Given the description of an element on the screen output the (x, y) to click on. 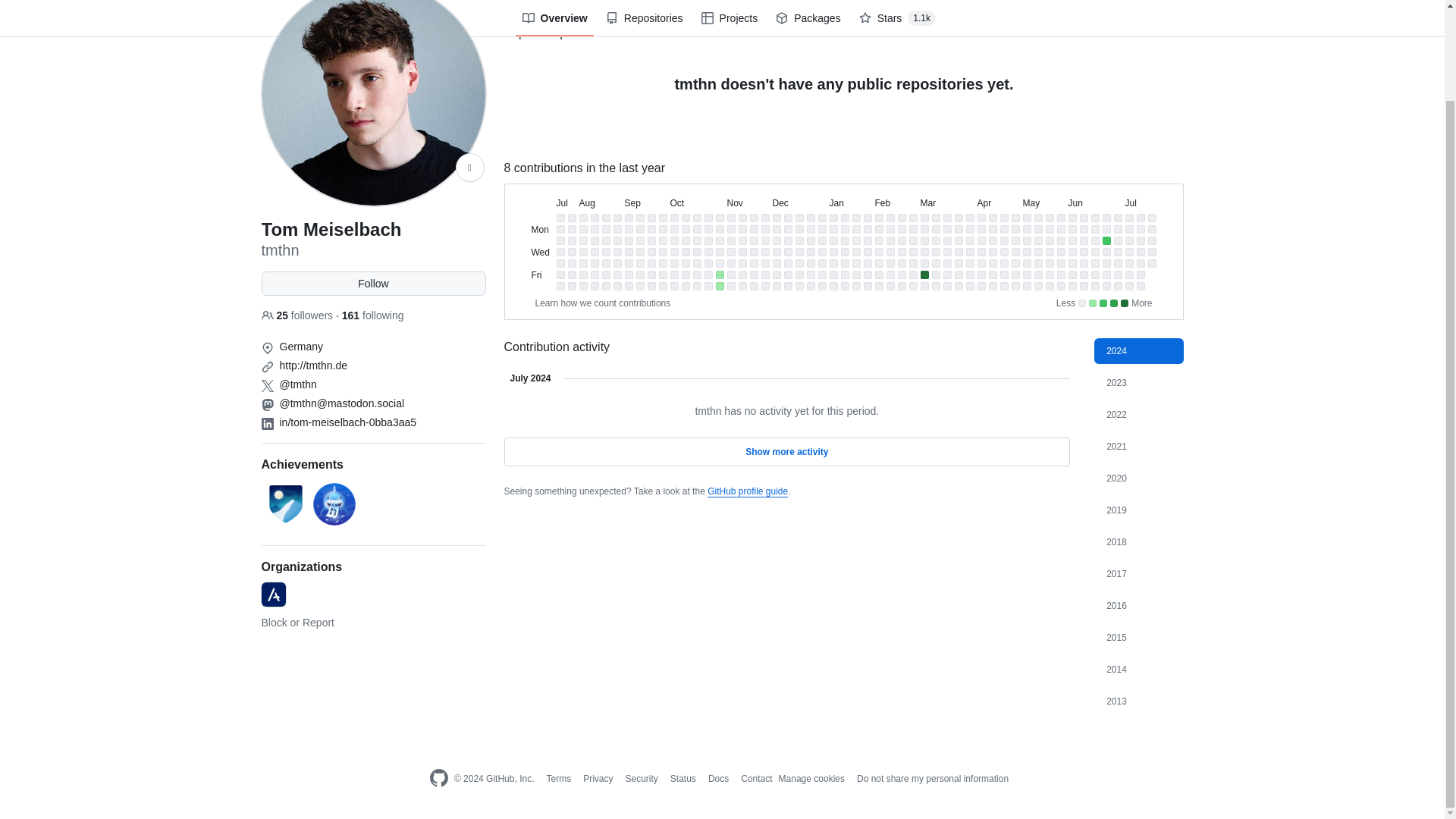
X (266, 386)
LinkedIn (266, 423)
Mastodon (266, 404)
GitHub (438, 778)
